Given the description of an element on the screen output the (x, y) to click on. 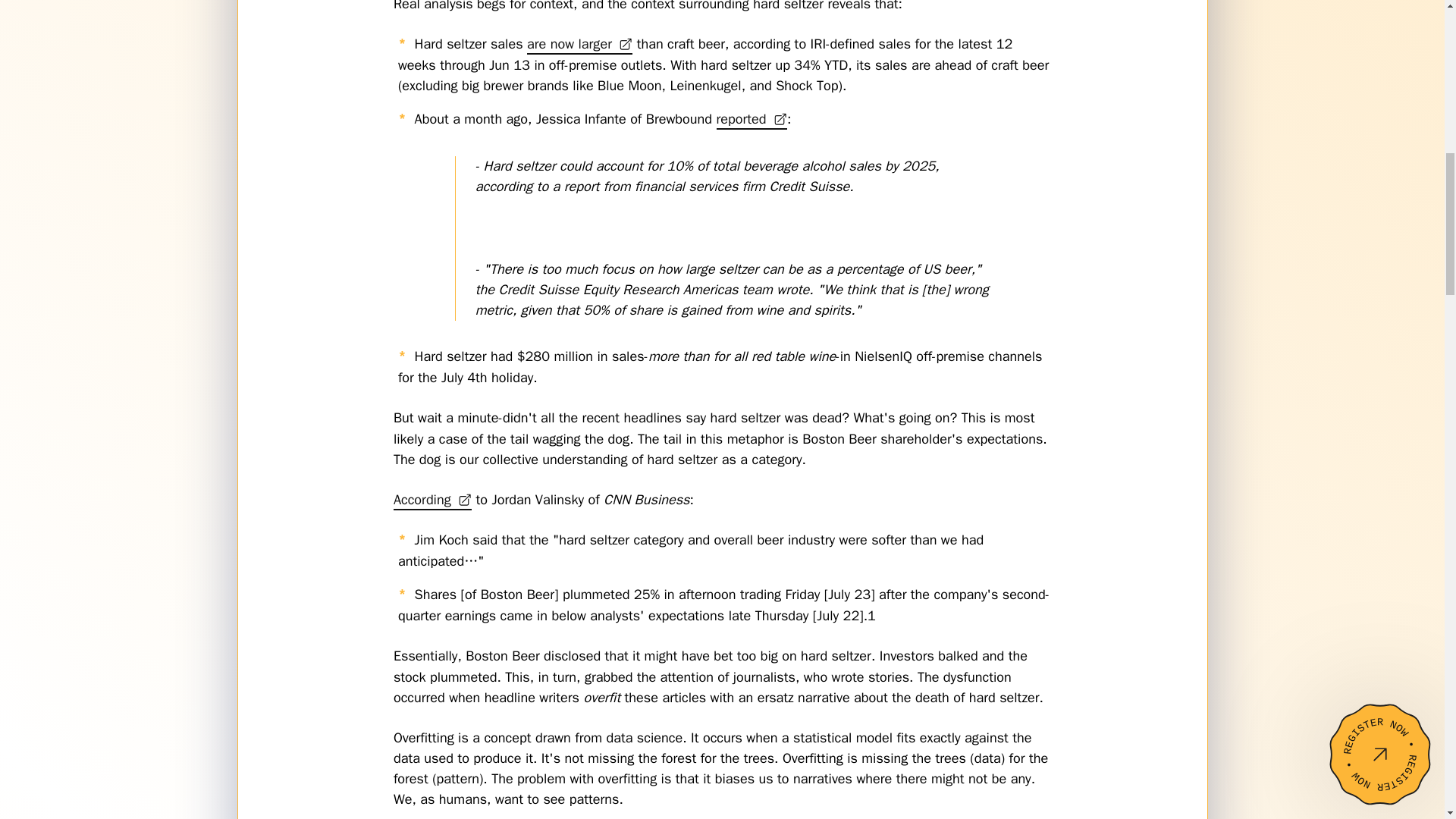
are now larger (579, 44)
According (432, 499)
reported (751, 118)
